Given the description of an element on the screen output the (x, y) to click on. 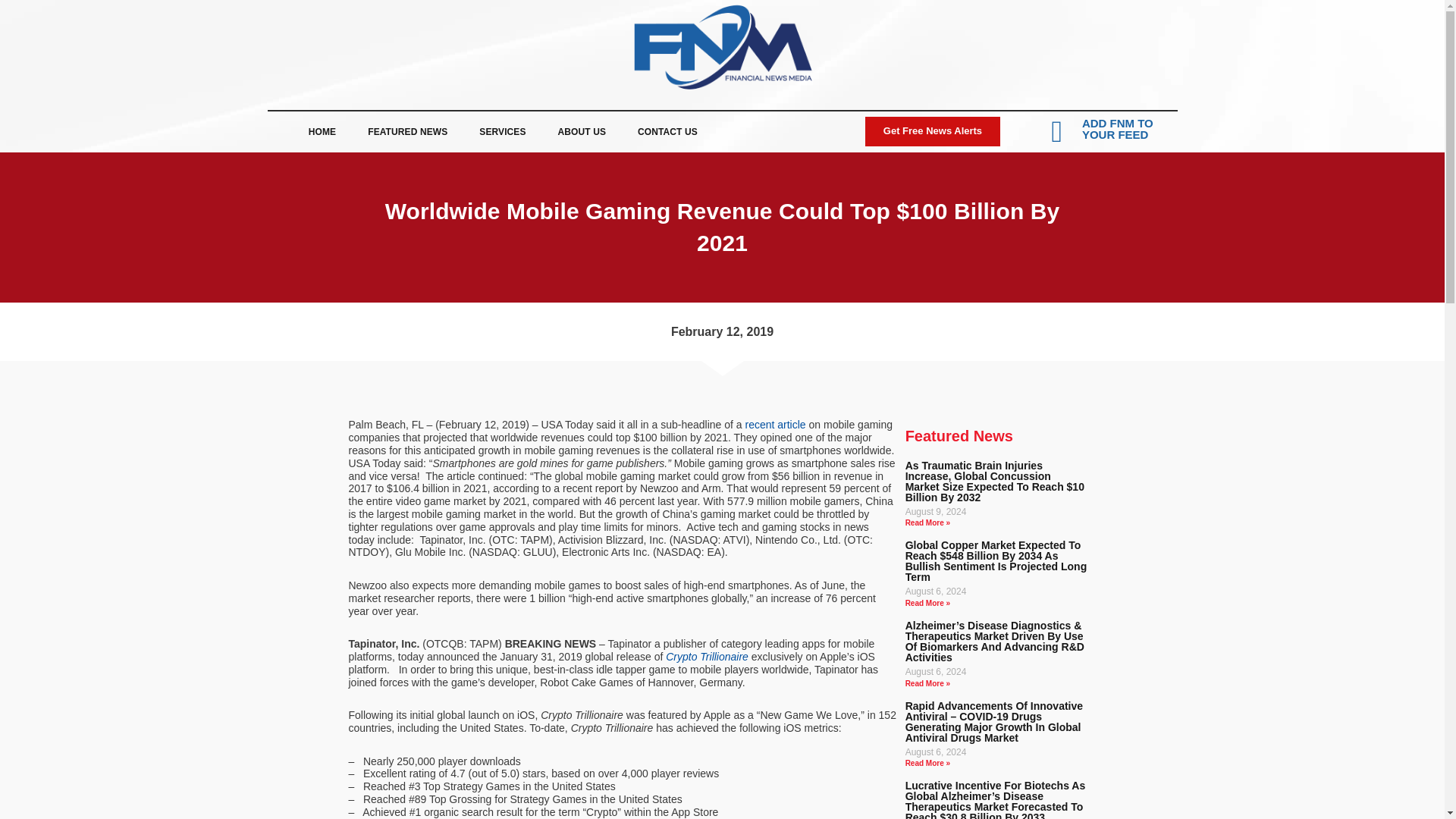
FEATURED NEWS (407, 132)
ABOUT US (581, 132)
CONTACT US (667, 132)
SERVICES (502, 132)
HOME (322, 132)
